Given the description of an element on the screen output the (x, y) to click on. 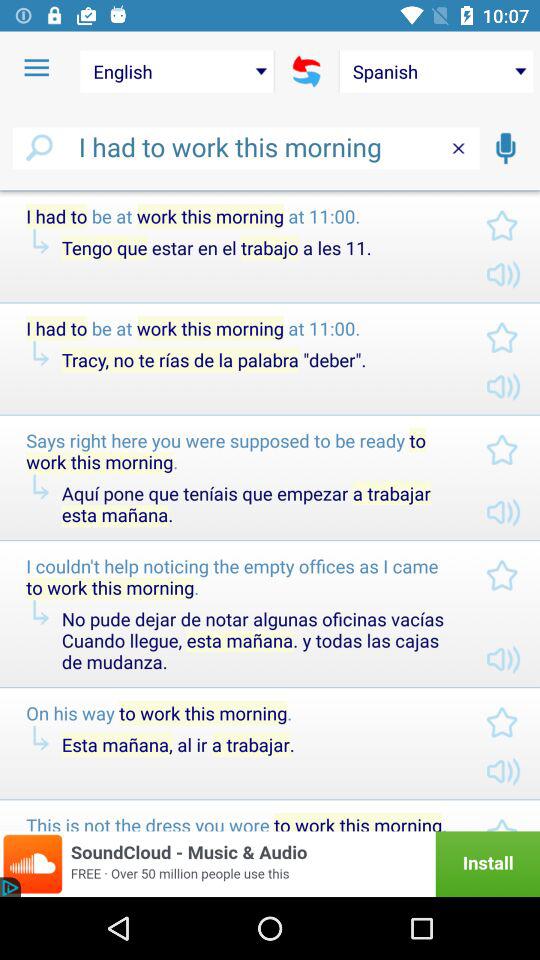
choose icon to the right of i had to (505, 148)
